Given the description of an element on the screen output the (x, y) to click on. 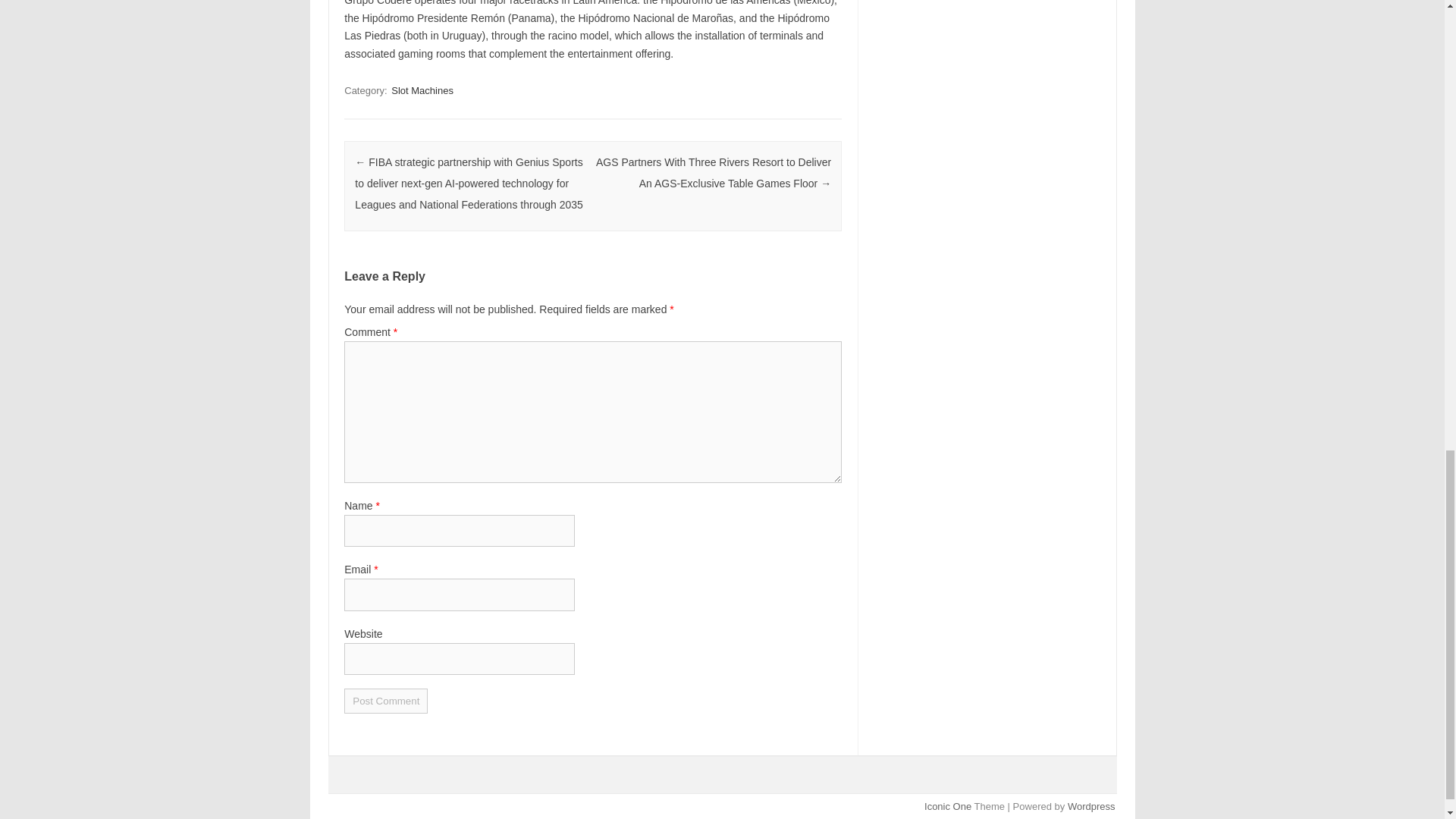
Wordpress (1091, 806)
Post Comment (385, 700)
Iconic One (947, 806)
Post Comment (385, 700)
Slot Machines (422, 90)
